Given the description of an element on the screen output the (x, y) to click on. 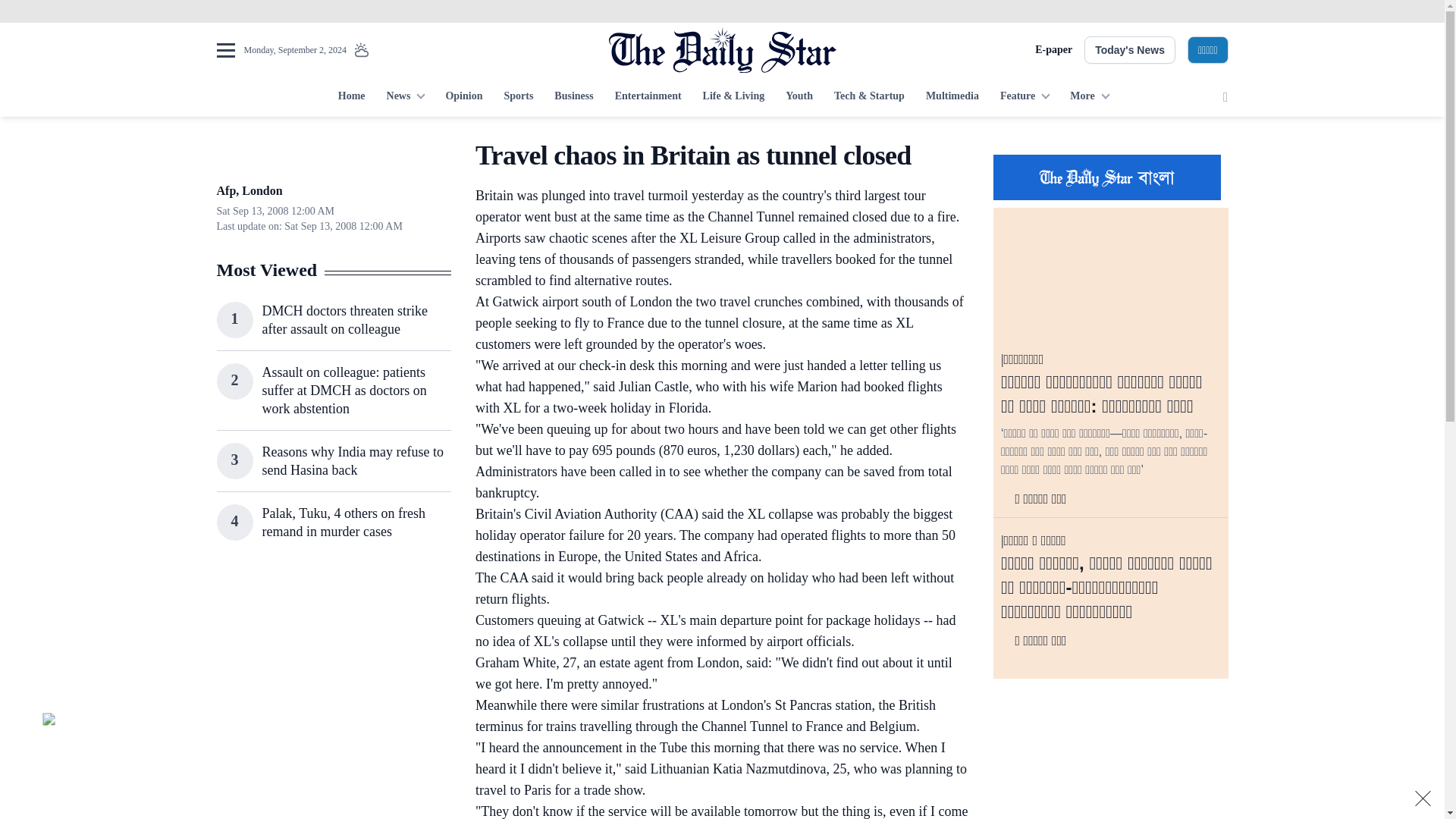
Today's News (1129, 49)
Entertainment (647, 96)
Business (573, 96)
Home (351, 96)
E-paper (1053, 49)
Youth (799, 96)
News (405, 96)
Feature (1024, 96)
Sports (518, 96)
